Given the description of an element on the screen output the (x, y) to click on. 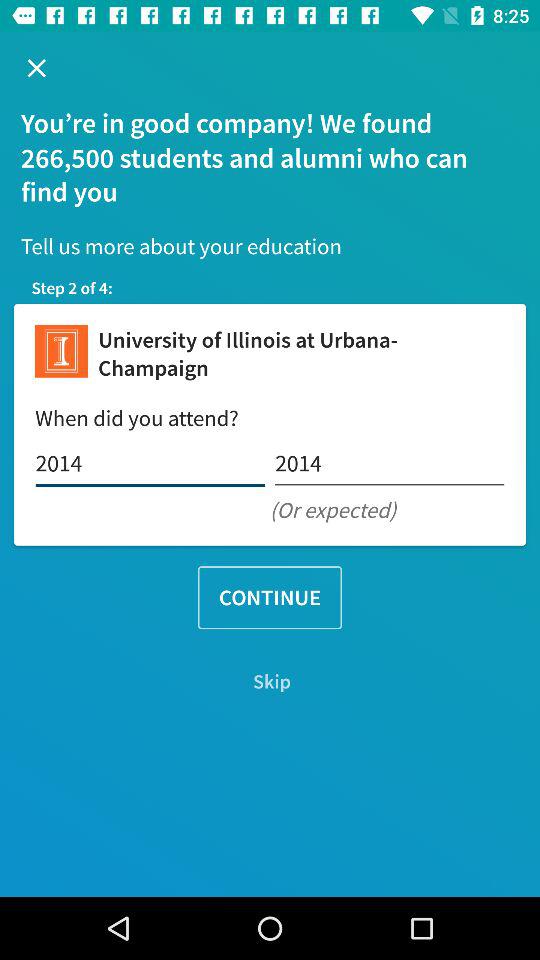
launch the continue icon (269, 597)
